Given the description of an element on the screen output the (x, y) to click on. 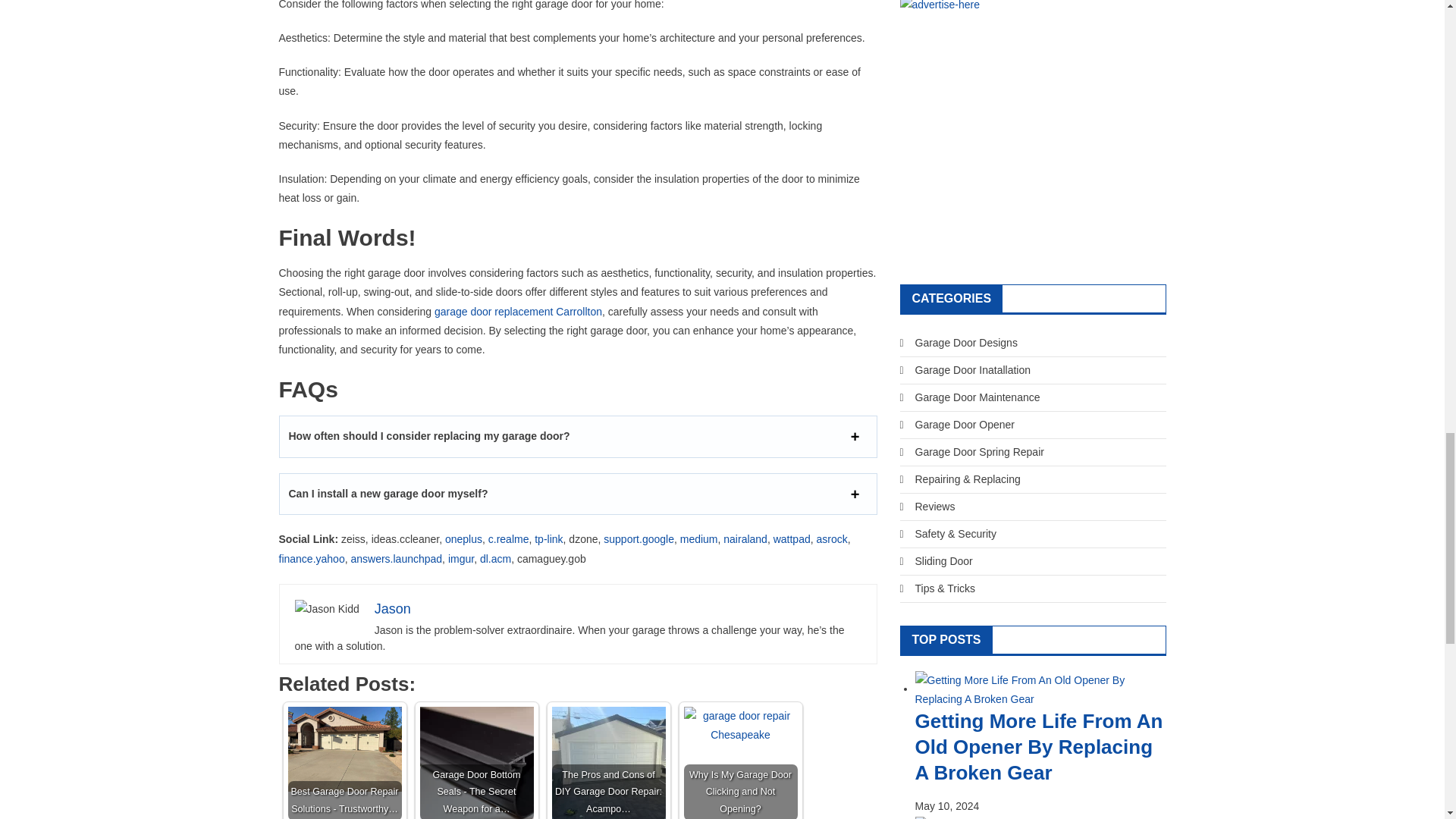
c.realme (508, 539)
Why Is My Garage Door Clicking and Not Opening? (740, 725)
tp-link (548, 539)
medium (698, 539)
support.google (639, 539)
oneplus (463, 539)
Jason Kidd (326, 609)
garage door replacement Carrollton (516, 311)
